Given the description of an element on the screen output the (x, y) to click on. 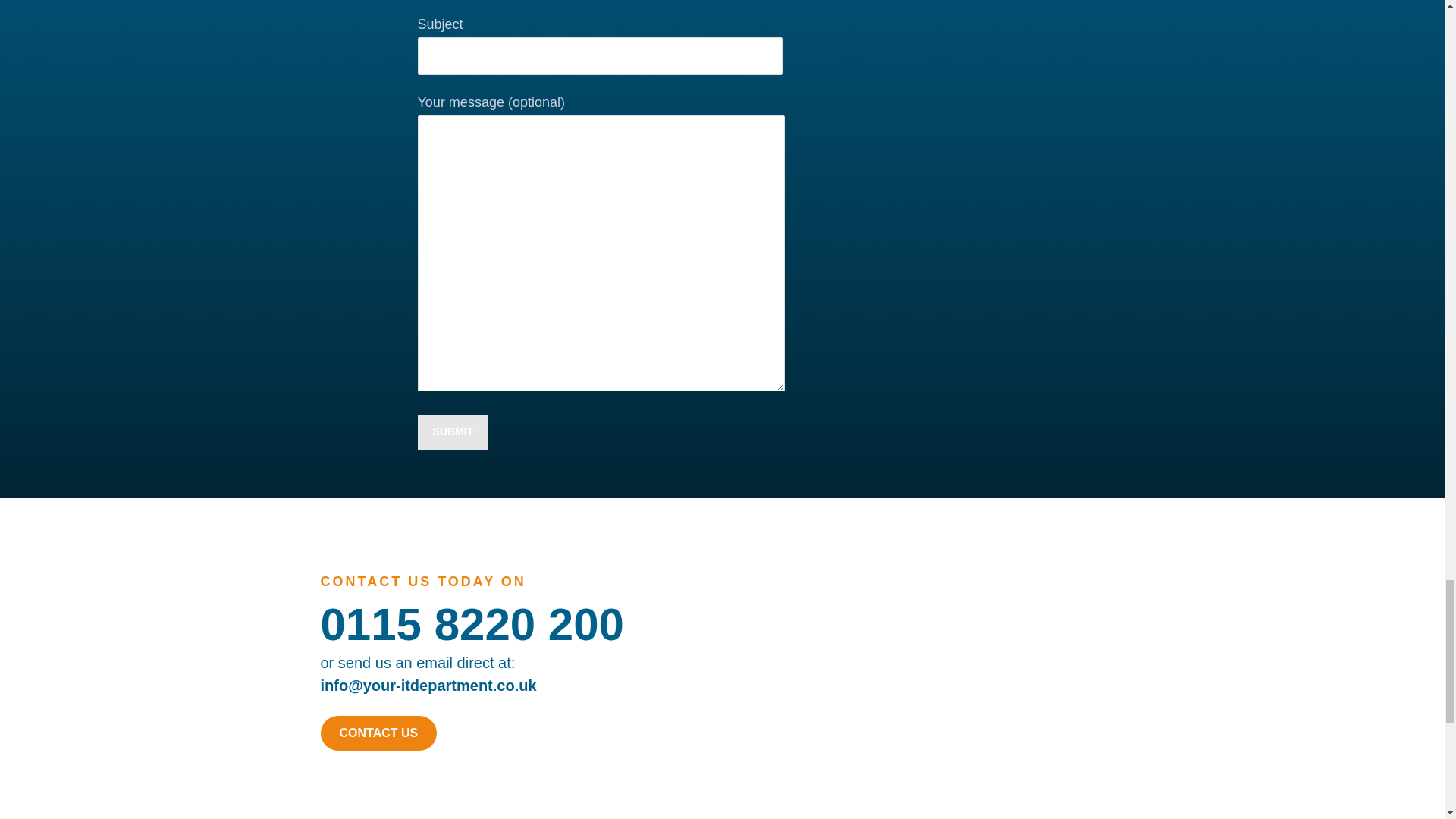
Submit (451, 431)
Submit (451, 431)
CONTACT US (378, 733)
